Given the description of an element on the screen output the (x, y) to click on. 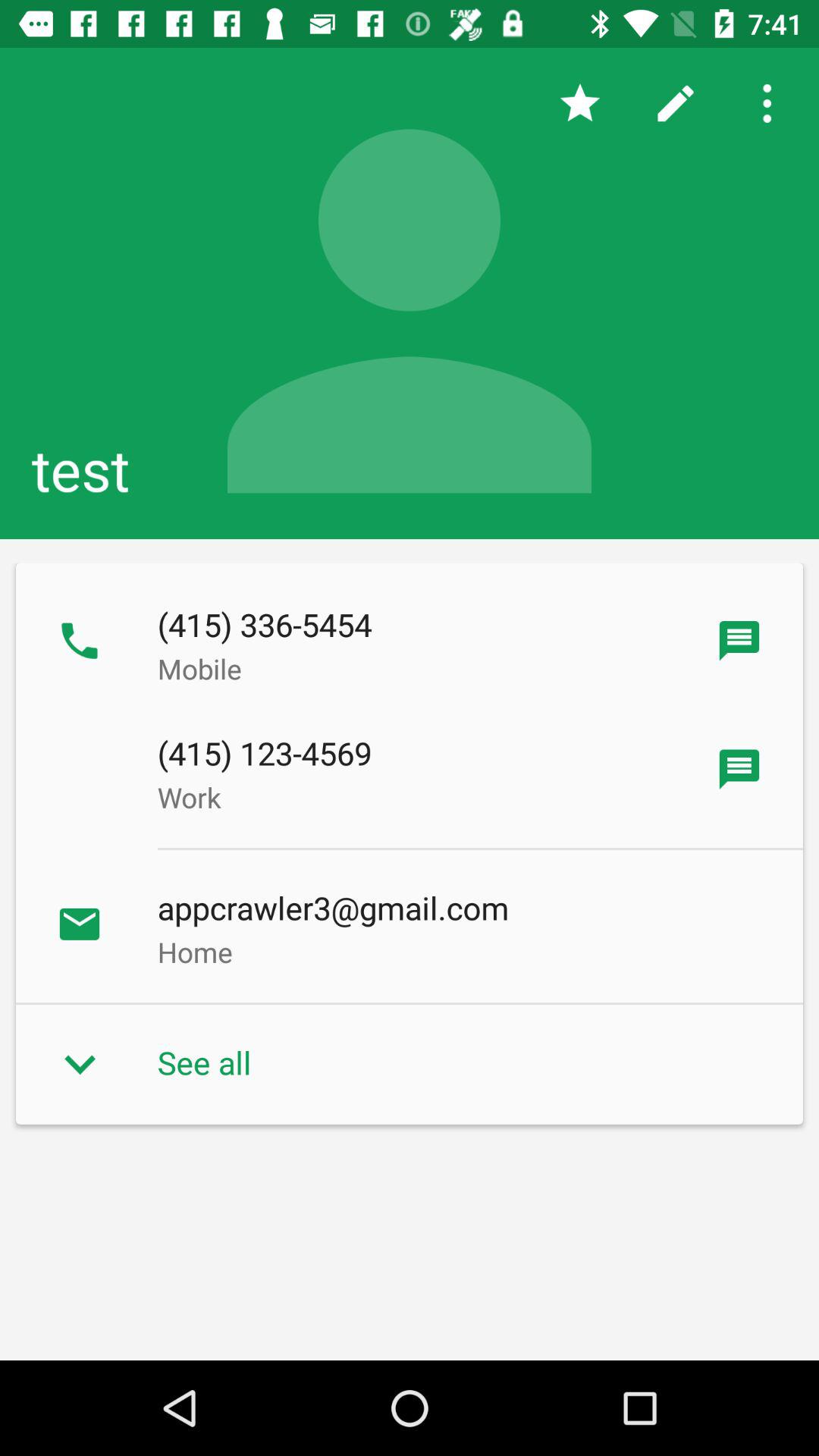
tap the icon above test (675, 103)
